Given the description of an element on the screen output the (x, y) to click on. 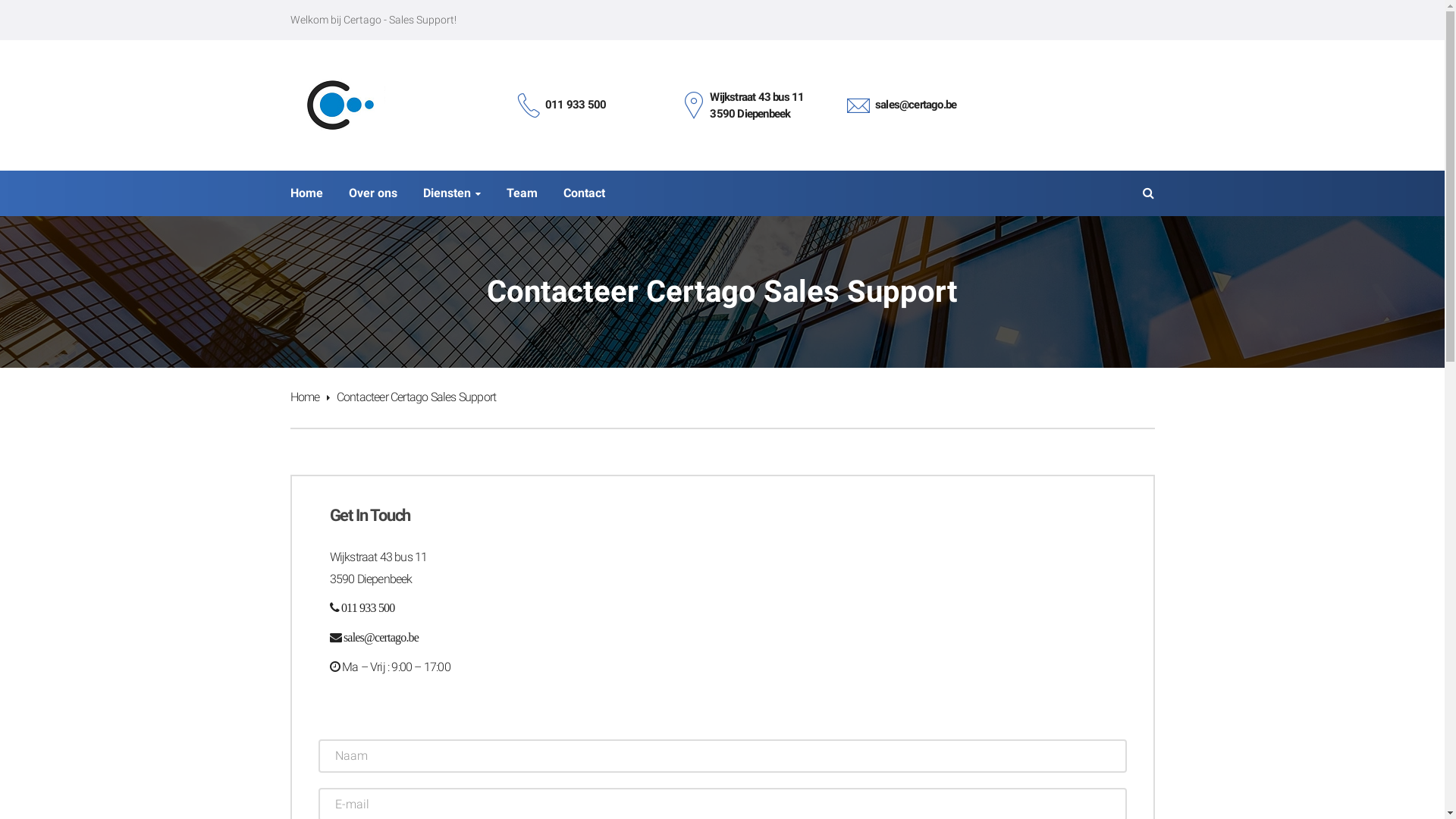
Team Element type: text (521, 193)
Over ons Element type: text (372, 193)
Home Element type: text (305, 193)
Zoeken Element type: text (174, 16)
Diensten Element type: text (451, 193)
Contact Element type: text (583, 193)
Home Element type: text (309, 396)
